Given the description of an element on the screen output the (x, y) to click on. 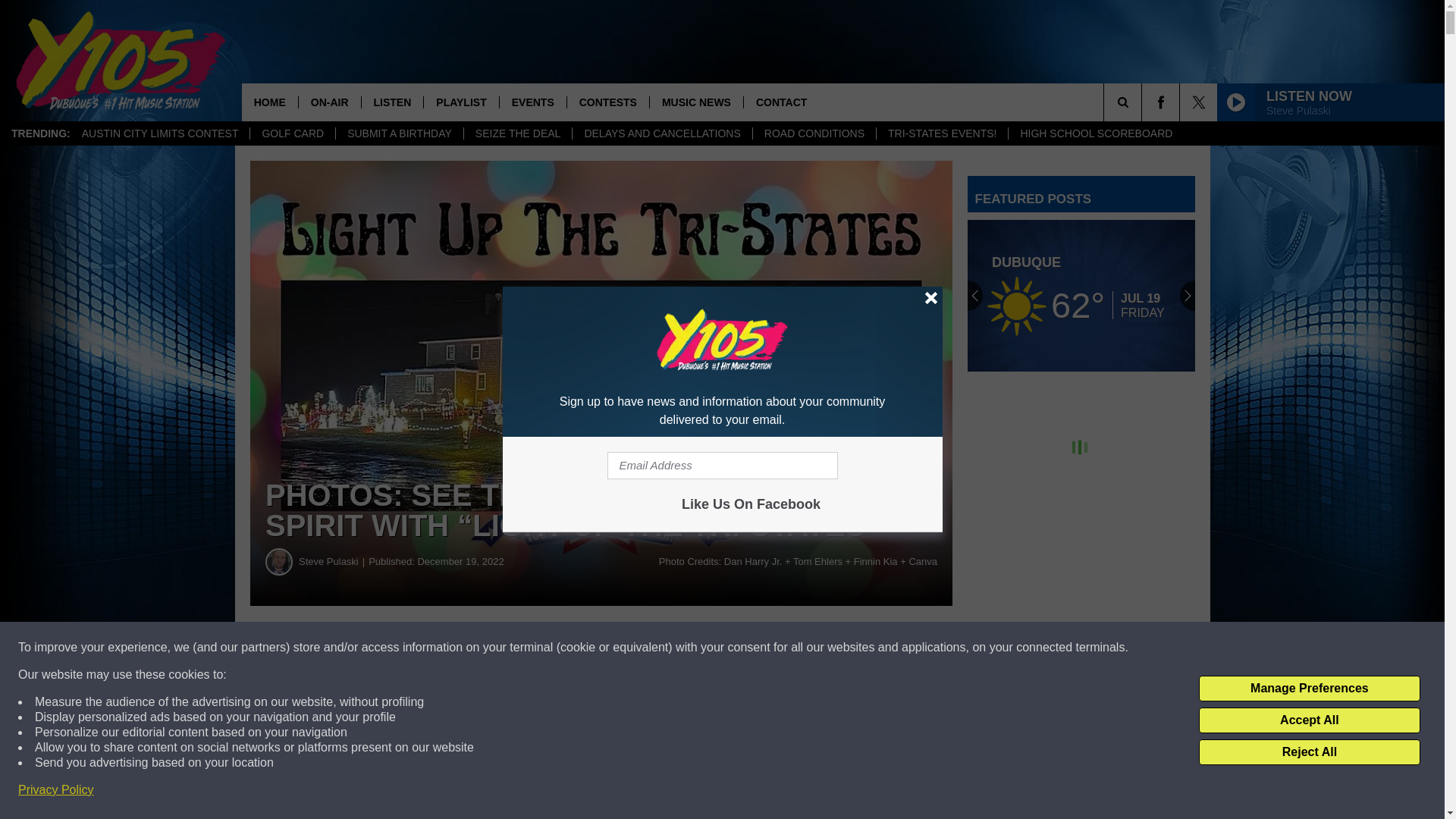
CONTESTS (607, 102)
SEARCH (1144, 102)
SEARCH (1144, 102)
MUSIC NEWS (695, 102)
SUBMIT A BIRTHDAY (398, 133)
GOLF CARD (291, 133)
Share on Twitter (741, 647)
Manage Preferences (1309, 688)
Dubuque Weather (1081, 295)
LISTEN (392, 102)
AUSTIN CITY LIMITS CONTEST (159, 133)
CONTACT (780, 102)
SEIZE THE DEAL (517, 133)
HOME (269, 102)
PLAYLIST (460, 102)
